Given the description of an element on the screen output the (x, y) to click on. 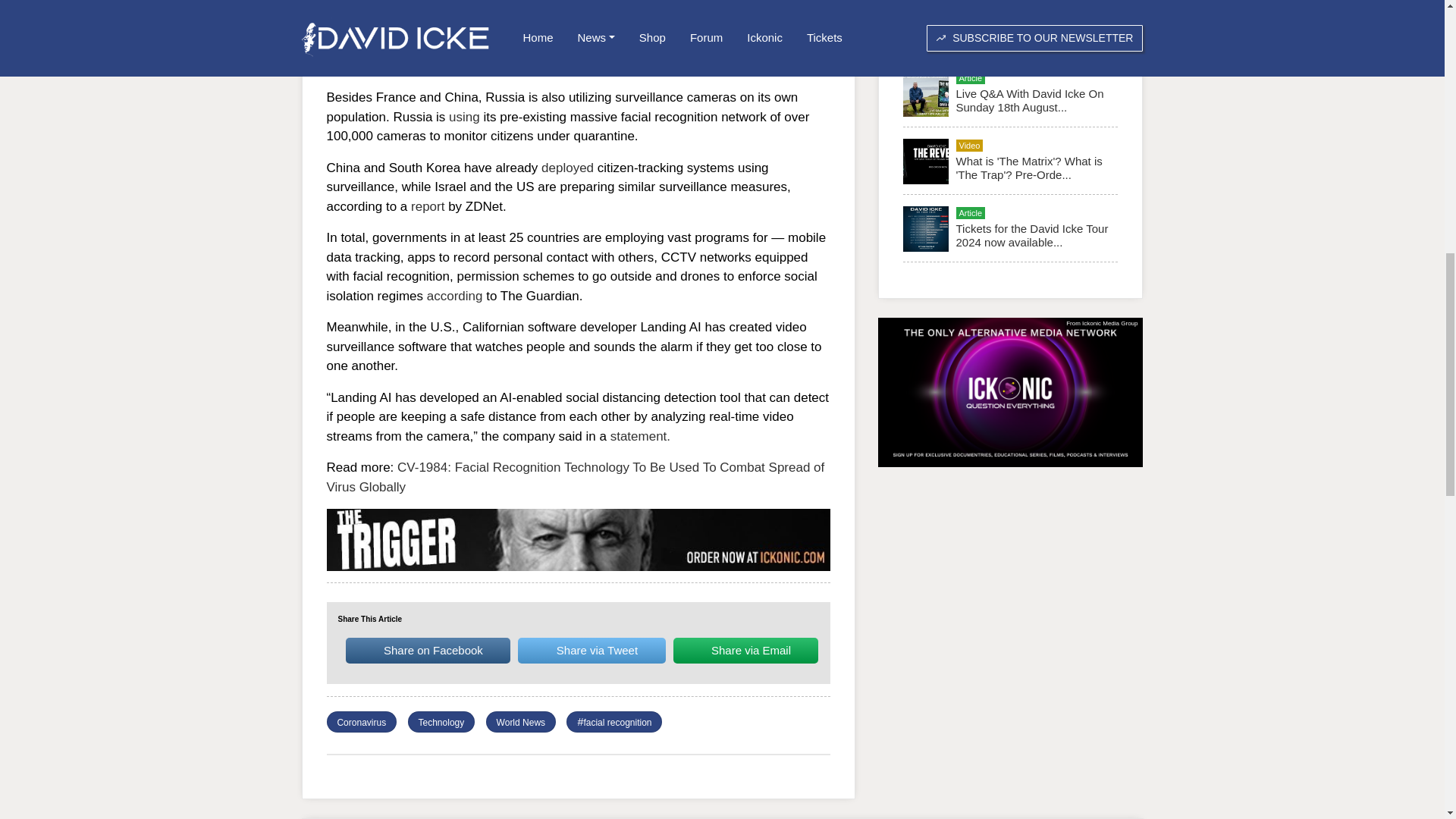
reports. (774, 65)
according (454, 296)
Share via Email (745, 650)
Share on Facebook (428, 650)
deployed (567, 167)
Share via Tweet (591, 650)
